Given the description of an element on the screen output the (x, y) to click on. 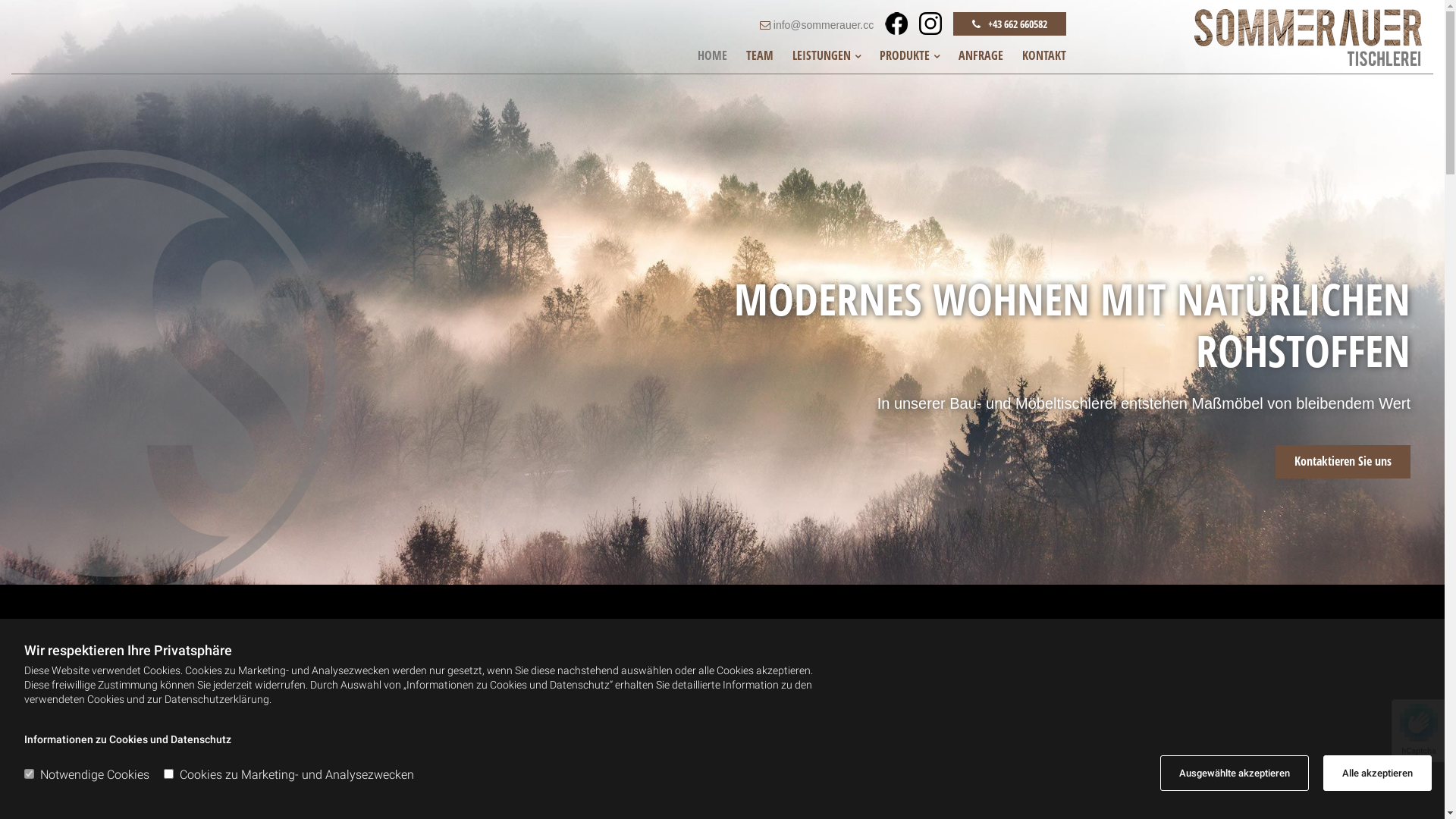
Logo Element type: hover (1254, 37)
Informationen zu Cookies und Datenschutz Element type: text (127, 739)
info@sommerauer.cc Element type: text (823, 24)
+43 662 660582 Element type: text (1009, 23)
KONTAKT Element type: text (1044, 55)
PRODUKTE Element type: text (909, 55)
Kontaktieren Sie uns Element type: text (1342, 461)
HOME Element type: text (712, 55)
Alle akzeptieren Element type: text (1377, 772)
ANFRAGE Element type: text (980, 55)
LEISTUNGEN Element type: text (826, 55)
TEAM Element type: text (759, 55)
